Given the description of an element on the screen output the (x, y) to click on. 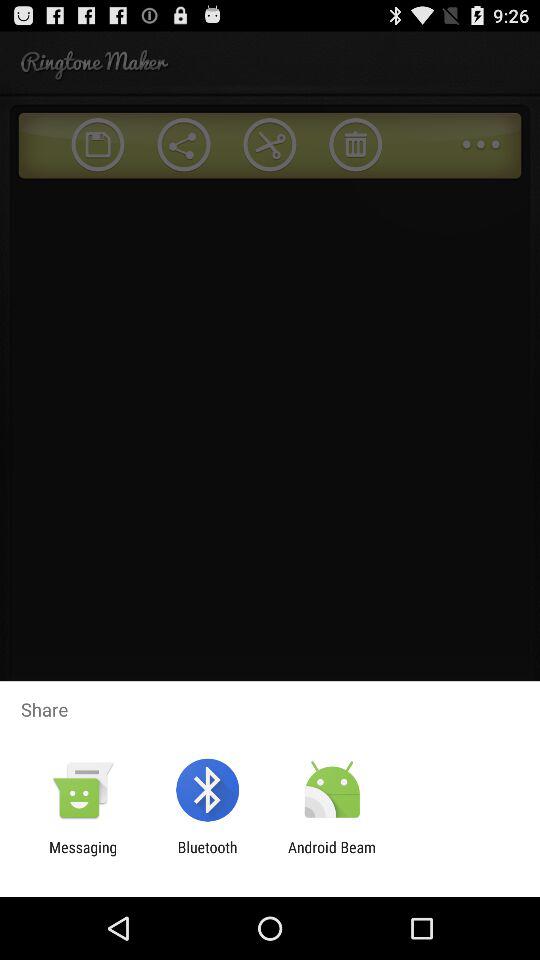
turn on bluetooth icon (207, 856)
